Given the description of an element on the screen output the (x, y) to click on. 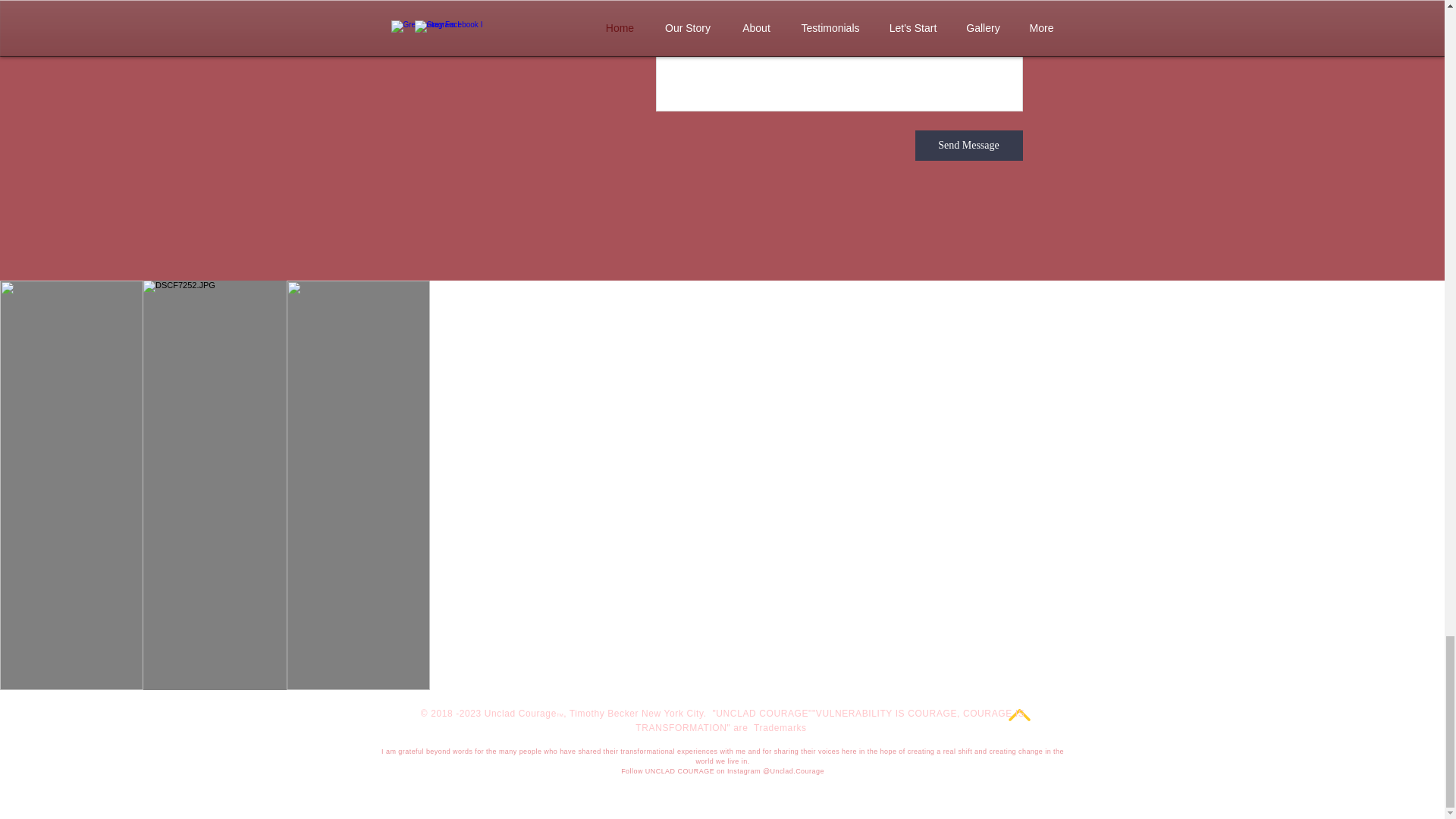
Send Message (968, 145)
